Given the description of an element on the screen output the (x, y) to click on. 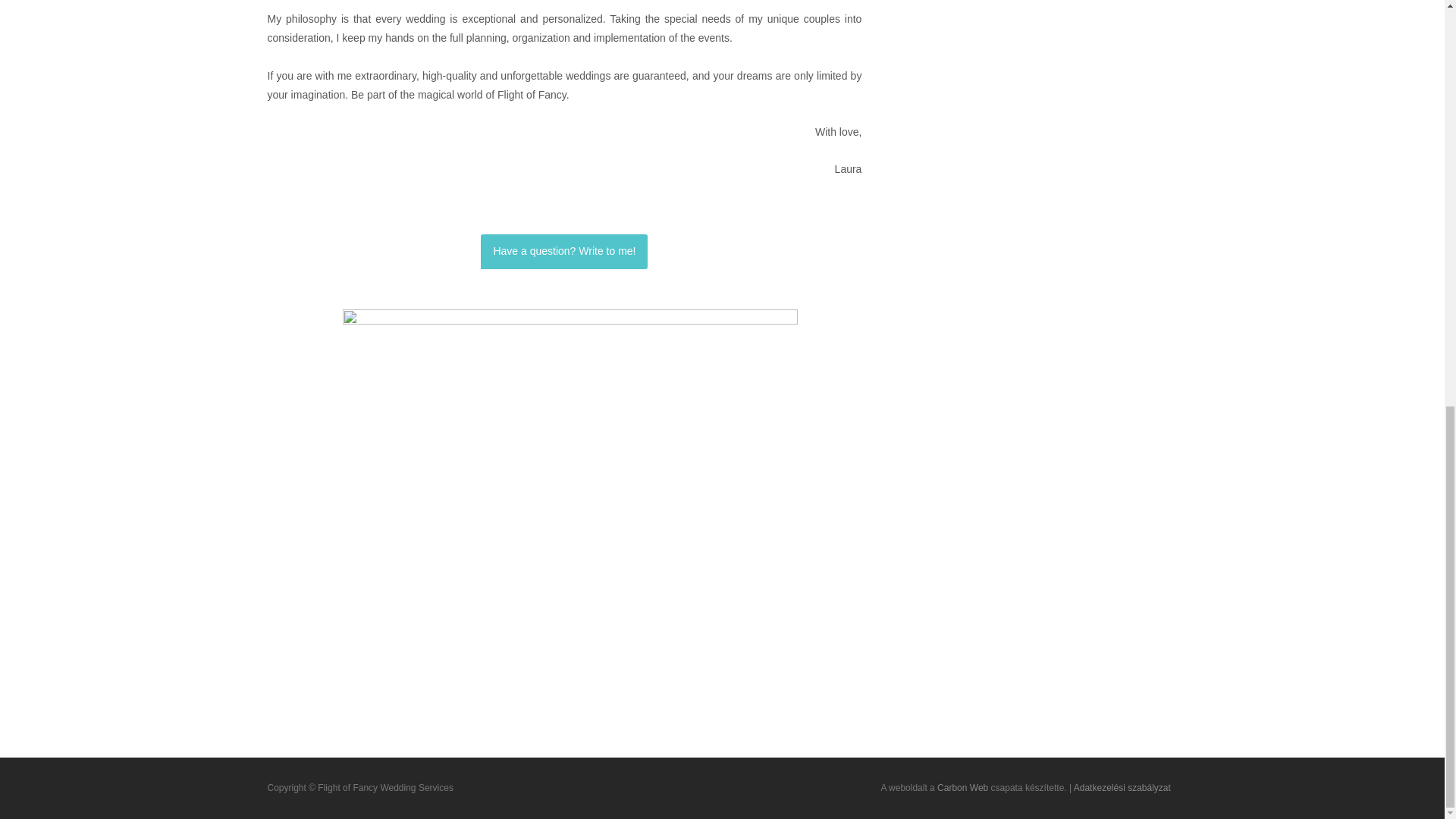
Carbon Web (962, 787)
Have a question? Write to me! (563, 251)
